Given the description of an element on the screen output the (x, y) to click on. 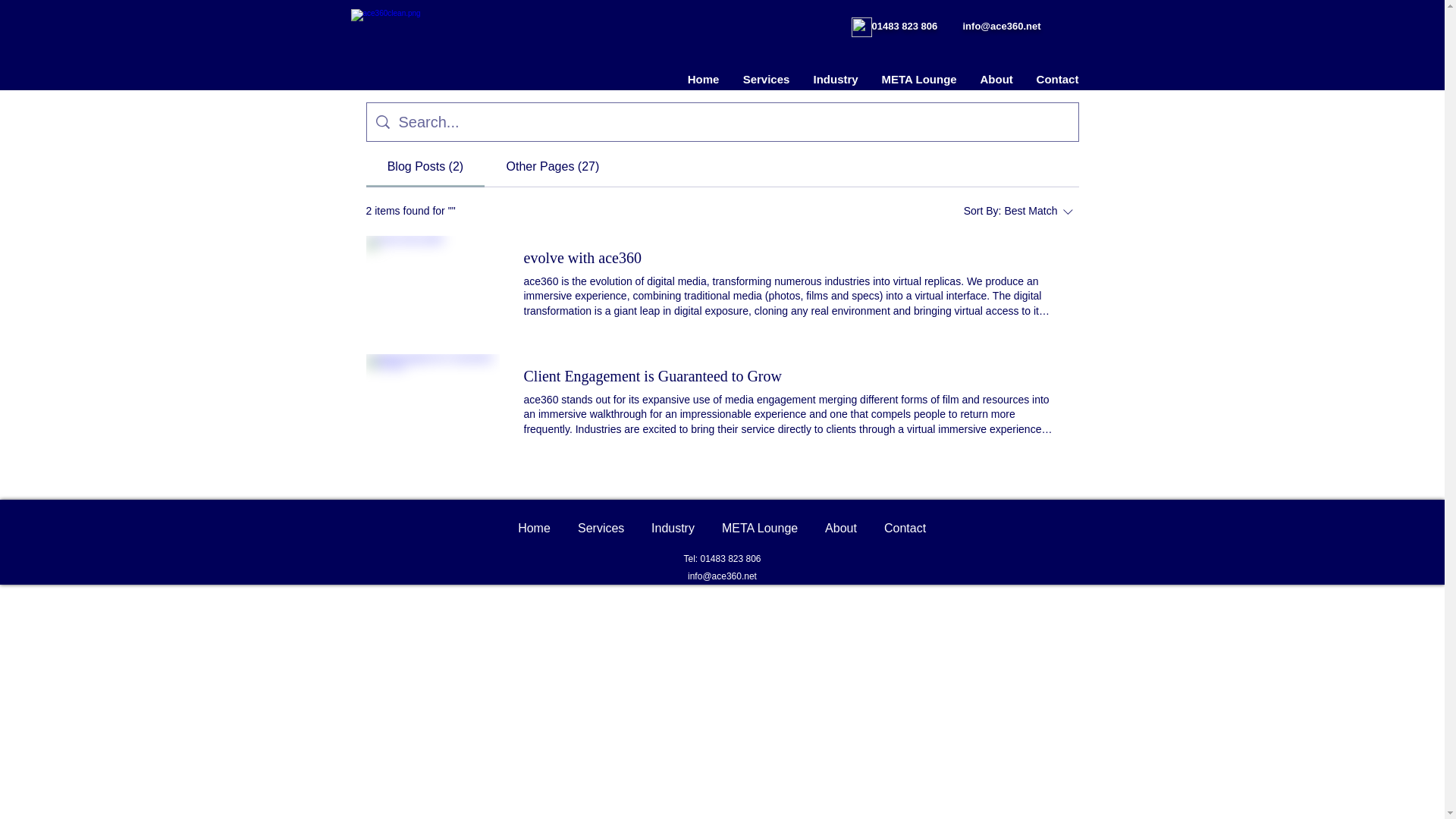
Client Engagement is Guaranteed to Grow (432, 400)
META Lounge (918, 79)
Contact (1056, 79)
Industry (1020, 211)
Services (834, 79)
evolve with ace360 (600, 521)
Contact (582, 257)
evolve with ace360 (904, 521)
About (432, 282)
